Given the description of an element on the screen output the (x, y) to click on. 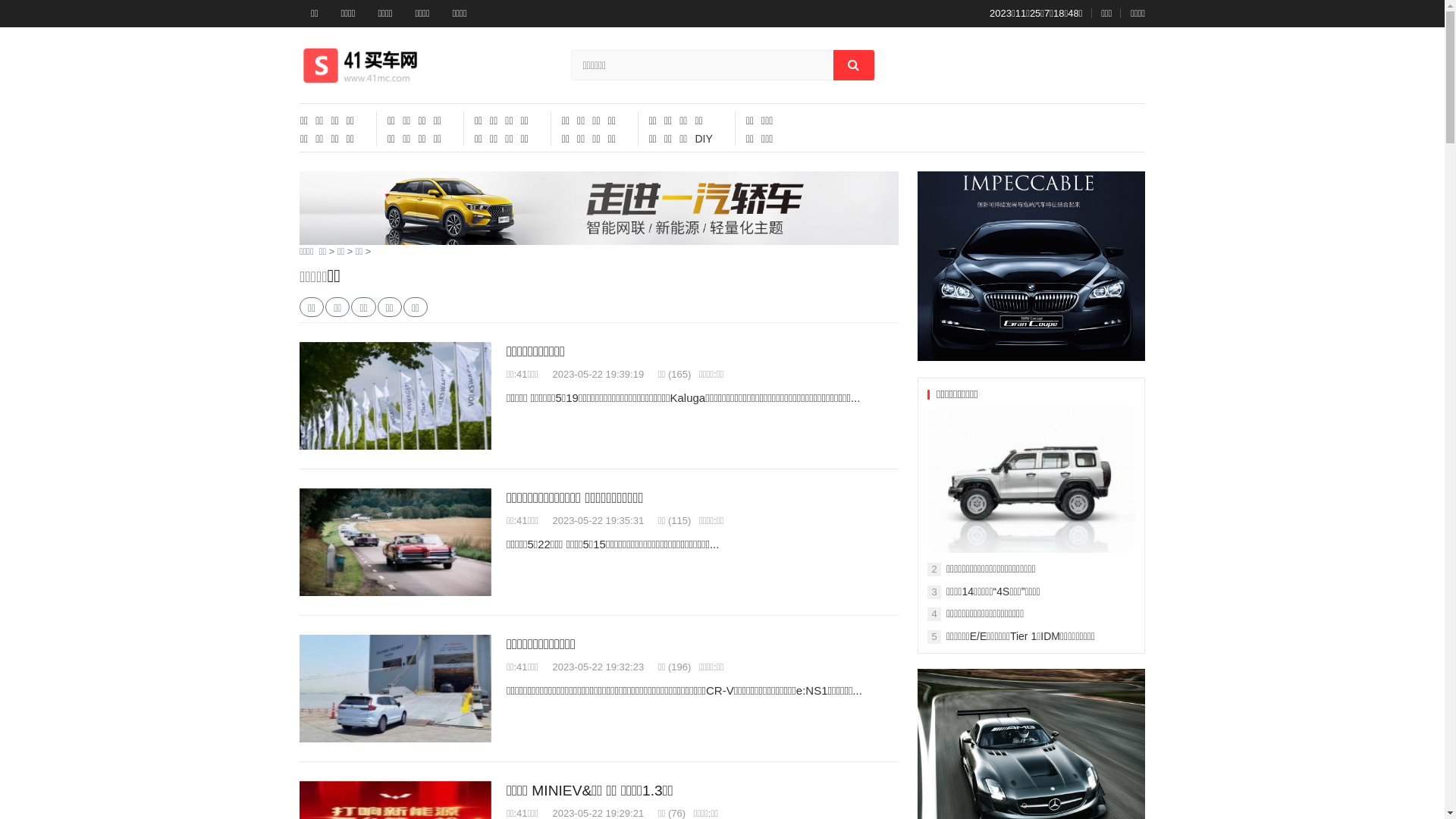
DIY Element type: text (702, 138)
